Given the description of an element on the screen output the (x, y) to click on. 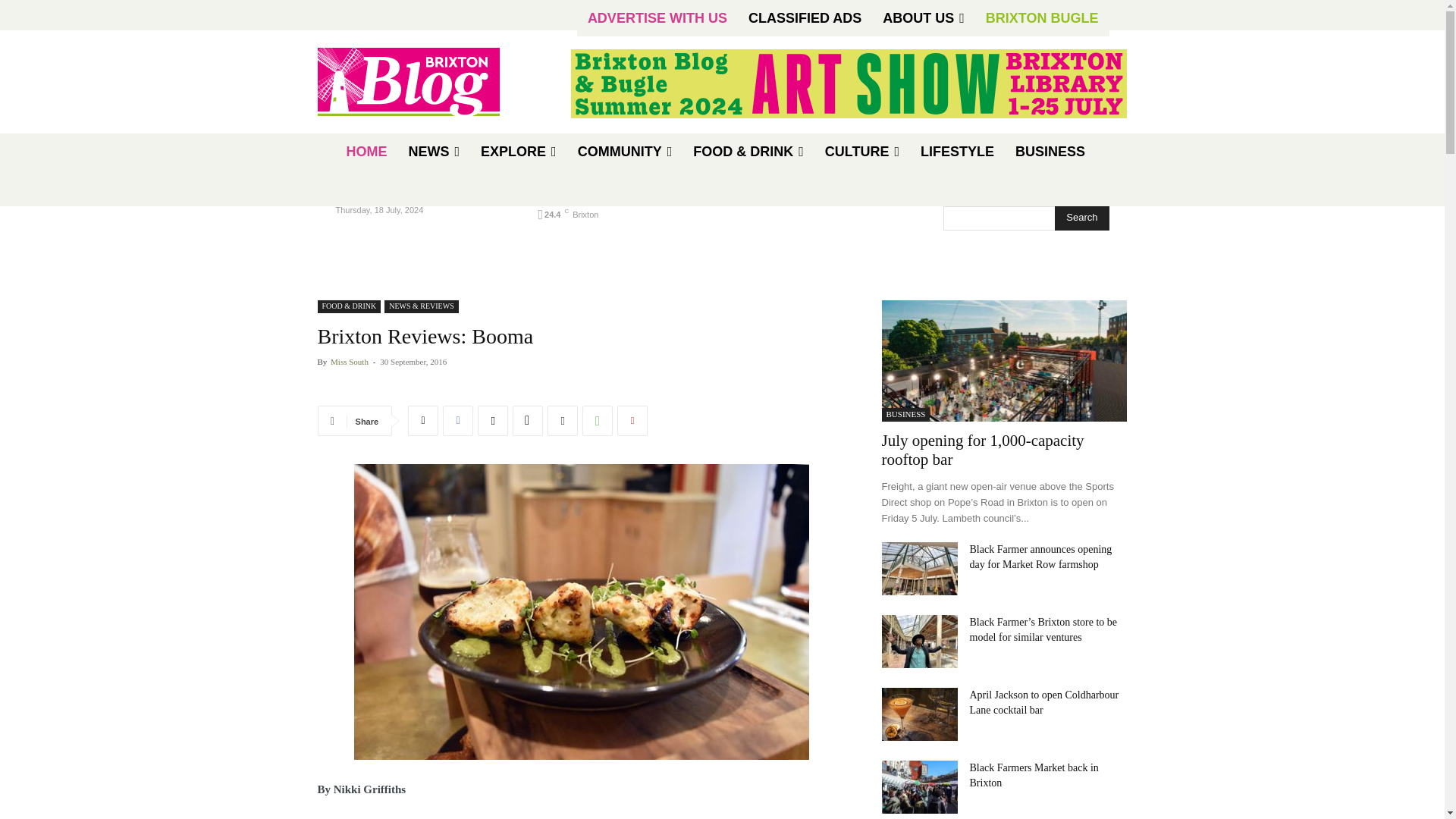
Print (562, 420)
Email (492, 420)
Facebook (457, 420)
BRIXTON BUGLE (1042, 18)
topFacebookLike (430, 386)
Brixton Blog (408, 81)
ABOUT US (923, 18)
ADVERTISE WITH US (657, 18)
Copy URL (527, 420)
CLASSIFIED ADS (805, 18)
WhatsApp (597, 420)
Pinterest (632, 420)
Brixton Blog (425, 81)
Twitter (422, 420)
